Given the description of an element on the screen output the (x, y) to click on. 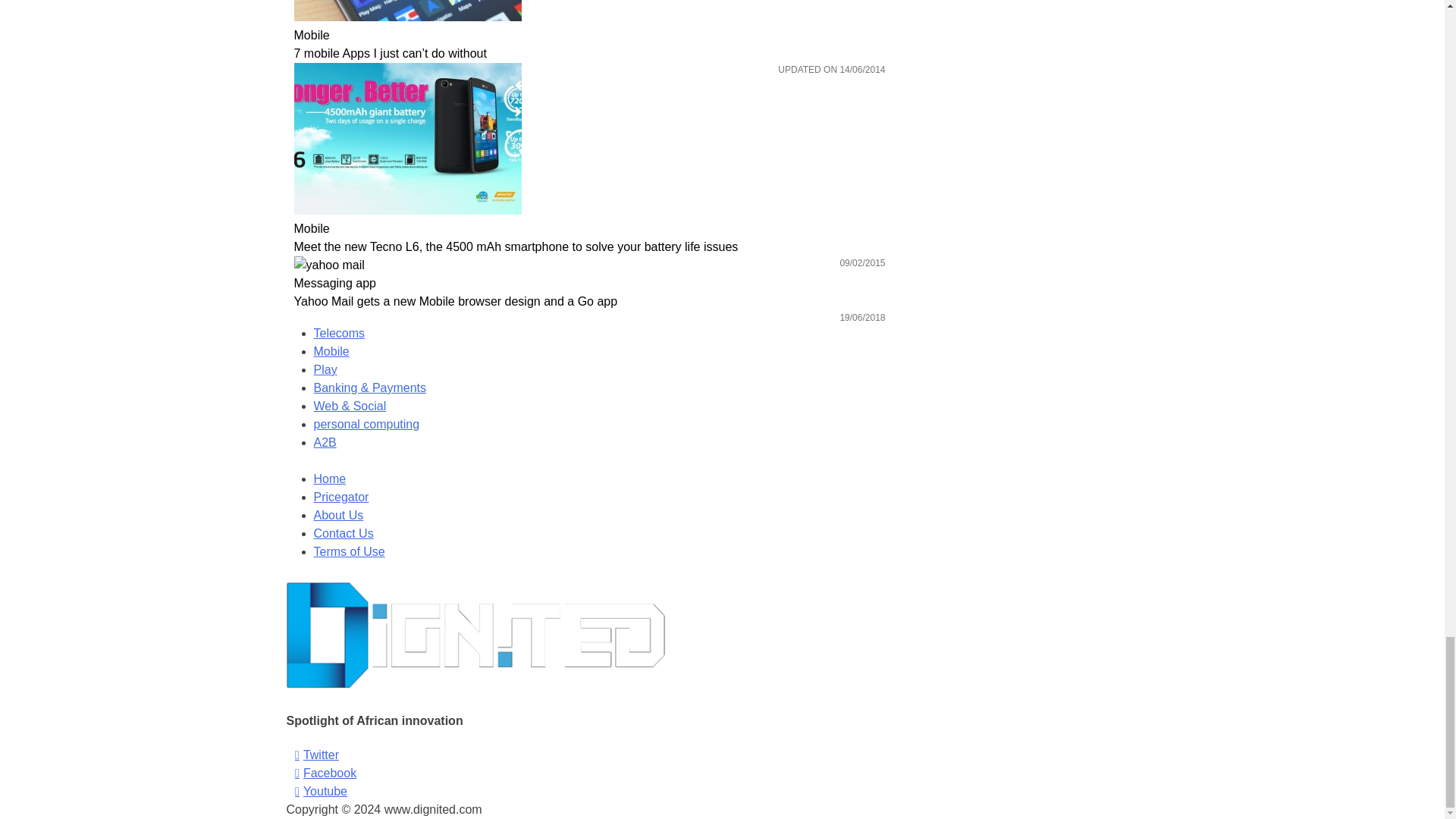
Mobile (589, 229)
Mobile (589, 35)
Yahoo Mail gets a new Mobile browser design and a Go app (589, 265)
Messaging app (589, 283)
